Given the description of an element on the screen output the (x, y) to click on. 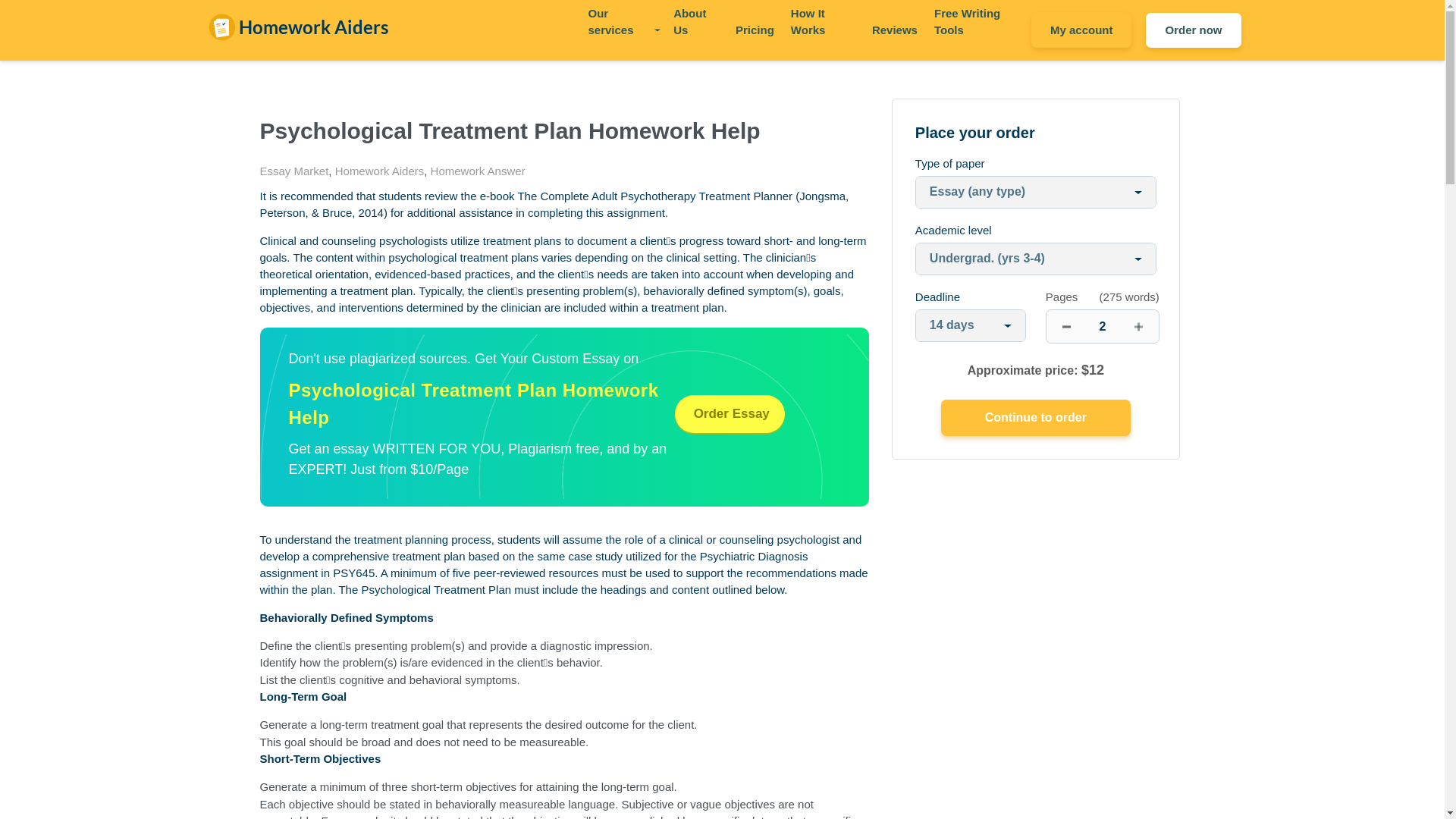
Continue to order (1035, 417)
Free Writing Tools (978, 21)
About Us (695, 21)
My account (1081, 30)
Pricing (754, 30)
Order Essay (729, 413)
Order now (1192, 30)
Homework Aiders (379, 170)
Essay Market (294, 170)
How It Works (823, 21)
